Given the description of an element on the screen output the (x, y) to click on. 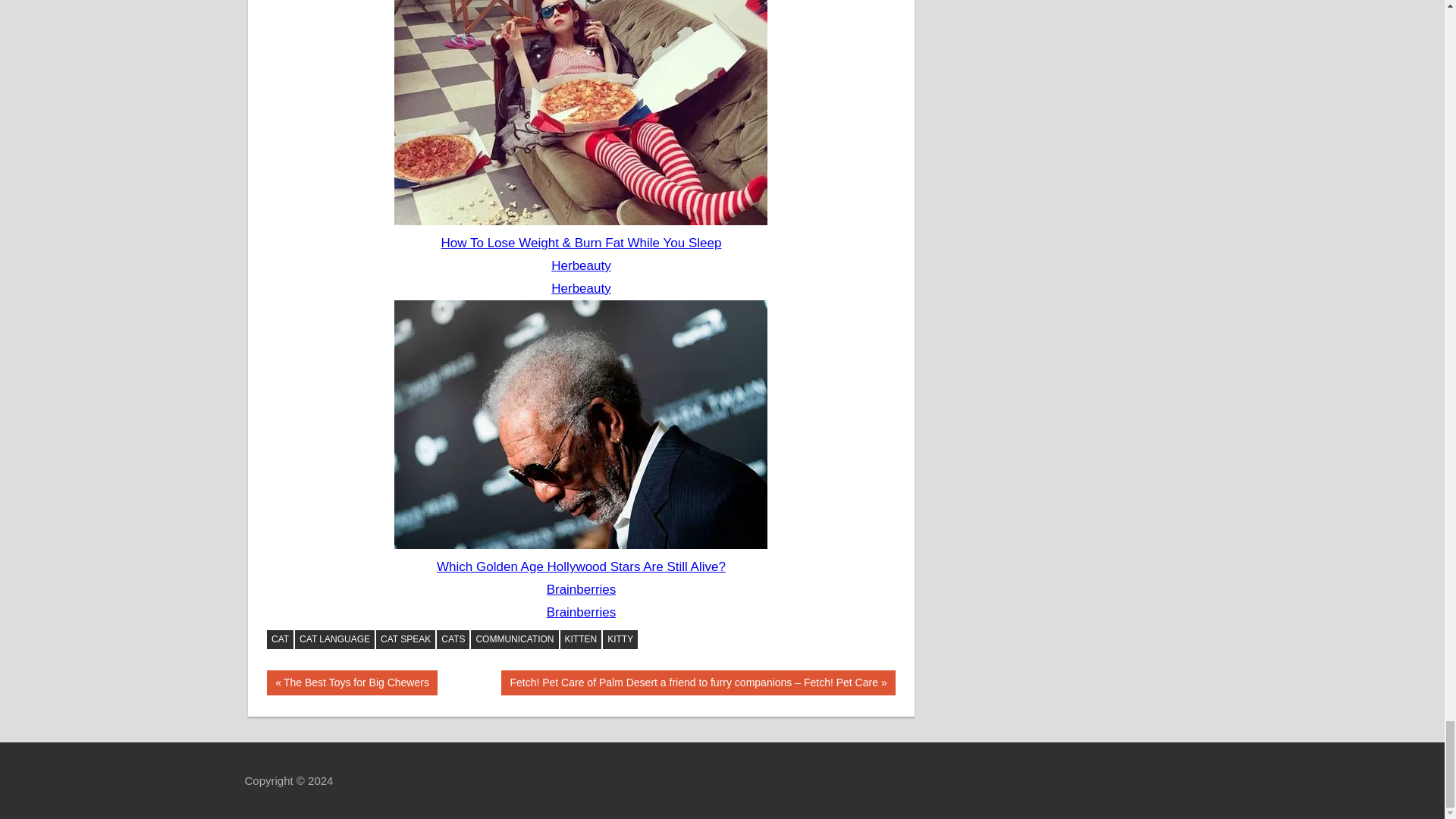
CAT LANGUAGE (334, 639)
KITTEN (581, 639)
KITTY (619, 639)
CATS (452, 639)
CAT SPEAK (405, 639)
COMMUNICATION (513, 639)
CAT (352, 682)
